Given the description of an element on the screen output the (x, y) to click on. 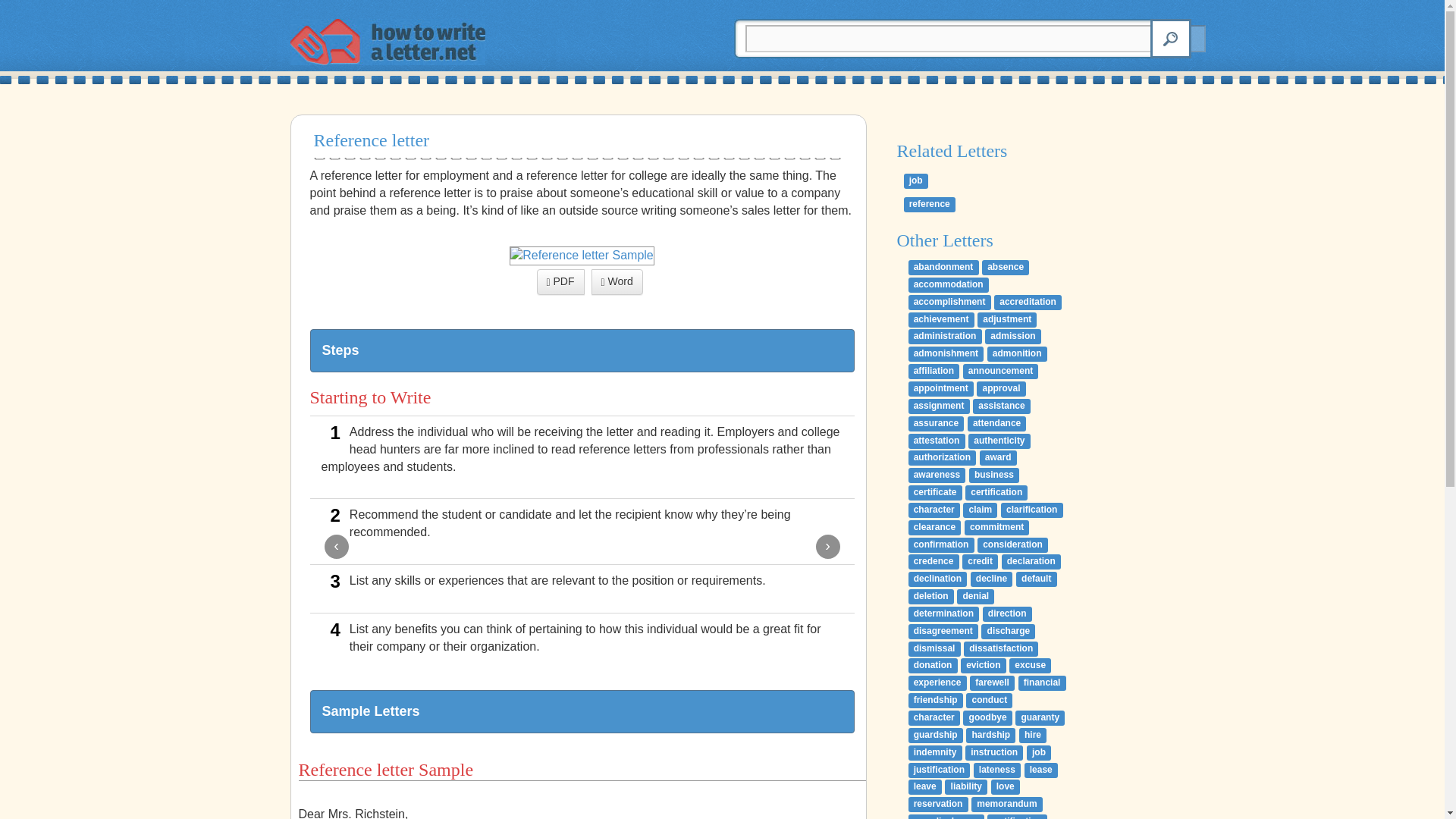
accommodation (948, 284)
claim (979, 509)
assignment (938, 406)
accomplishment (949, 302)
job (916, 181)
reference (929, 204)
admonishment (946, 353)
clarification (1031, 509)
administration (944, 336)
approval (1000, 388)
assistance (1001, 406)
absence (1005, 267)
admonition (1016, 353)
attestation (936, 441)
admission (1013, 336)
